Given the description of an element on the screen output the (x, y) to click on. 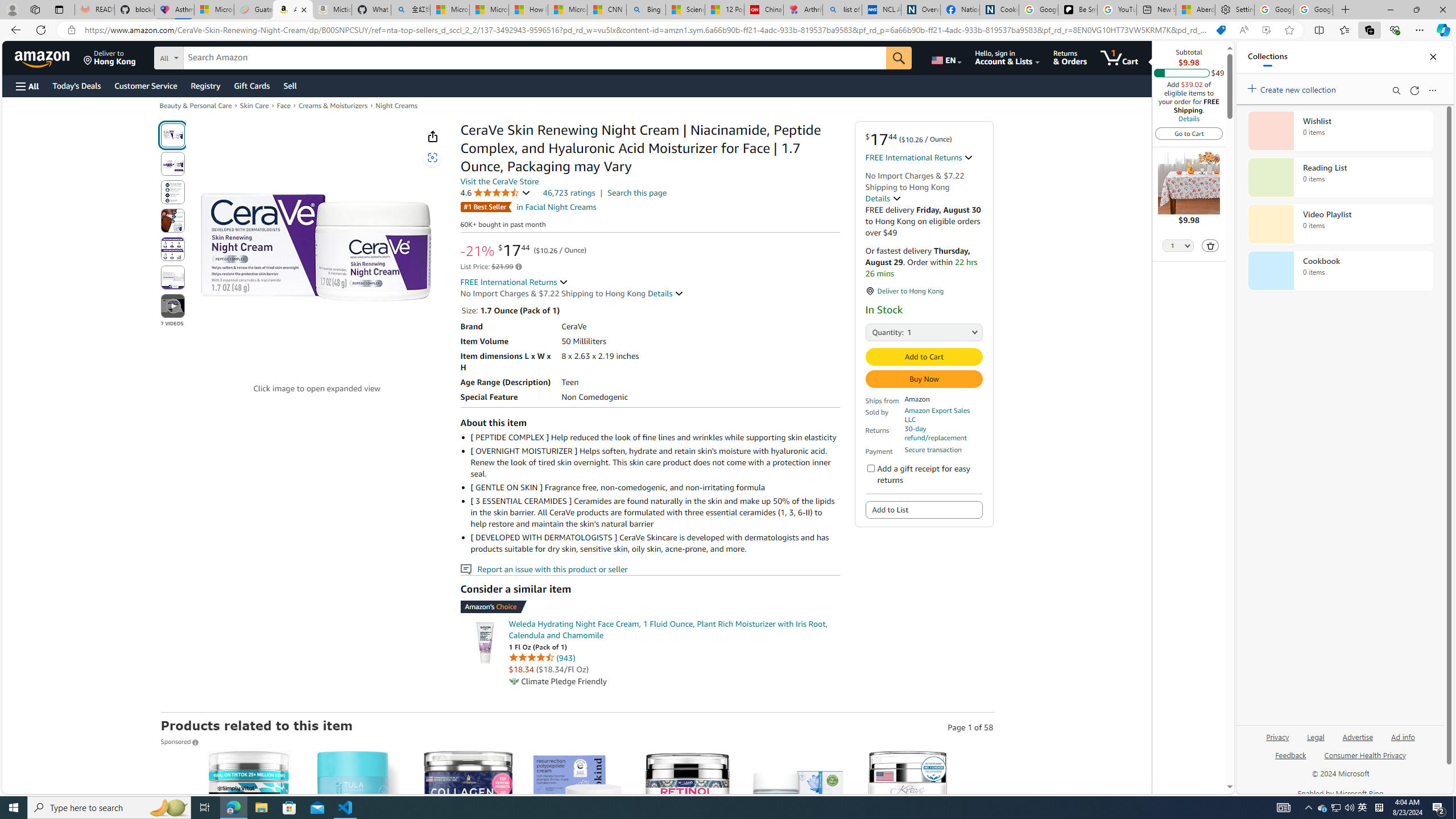
Beauty & Personal Care (194, 105)
Delete (1210, 245)
Registry (205, 85)
Amazon (43, 57)
Video Playlist collection, 0 items (1339, 223)
Choose a language for shopping. (945, 57)
Go (899, 57)
